Given the description of an element on the screen output the (x, y) to click on. 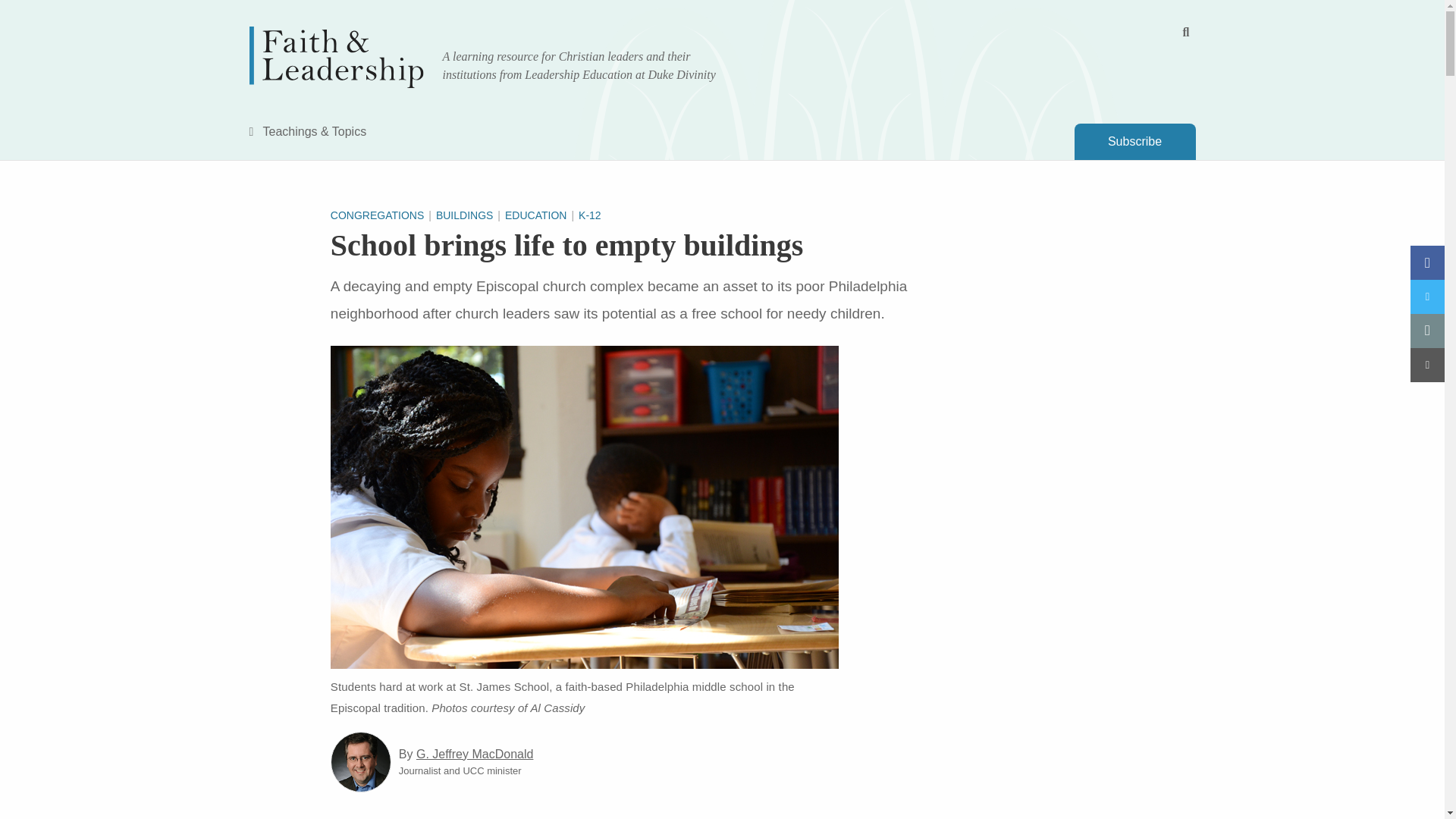
Link to author G. Jeffrey MacDonald (360, 762)
CONGREGATIONS (382, 215)
BUILDINGS (470, 215)
Subscribe (1134, 141)
Toggle Search (1185, 32)
K-12 (589, 215)
G. Jeffrey MacDonald (474, 753)
EDUCATION (541, 215)
